Given the description of an element on the screen output the (x, y) to click on. 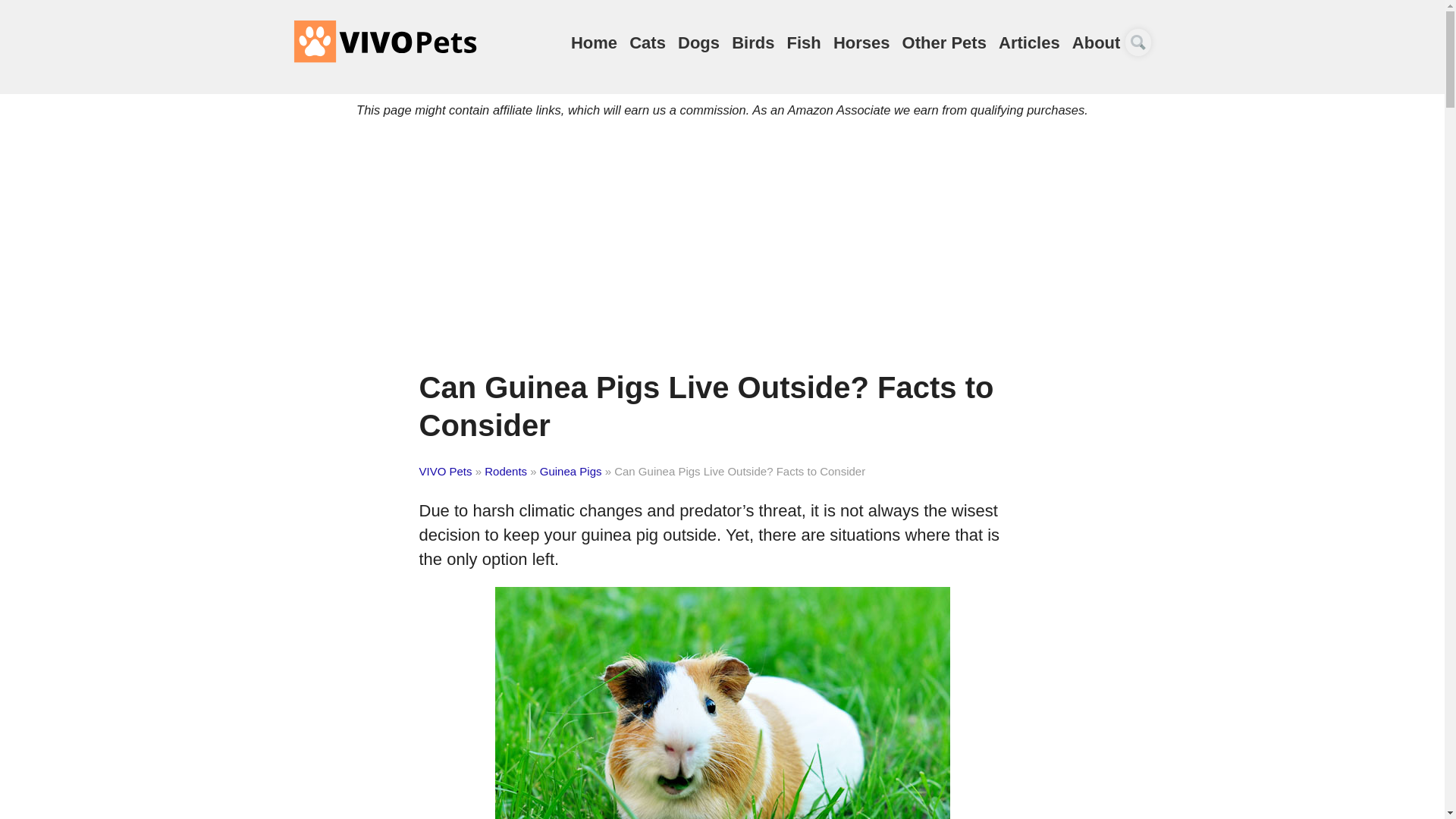
Home (593, 42)
Cats (646, 42)
Birds (753, 42)
Fish (804, 42)
Other Pets (944, 42)
Dogs (698, 42)
Advertisement (722, 254)
Horses (860, 42)
VIVO Pets (384, 41)
